Given the description of an element on the screen output the (x, y) to click on. 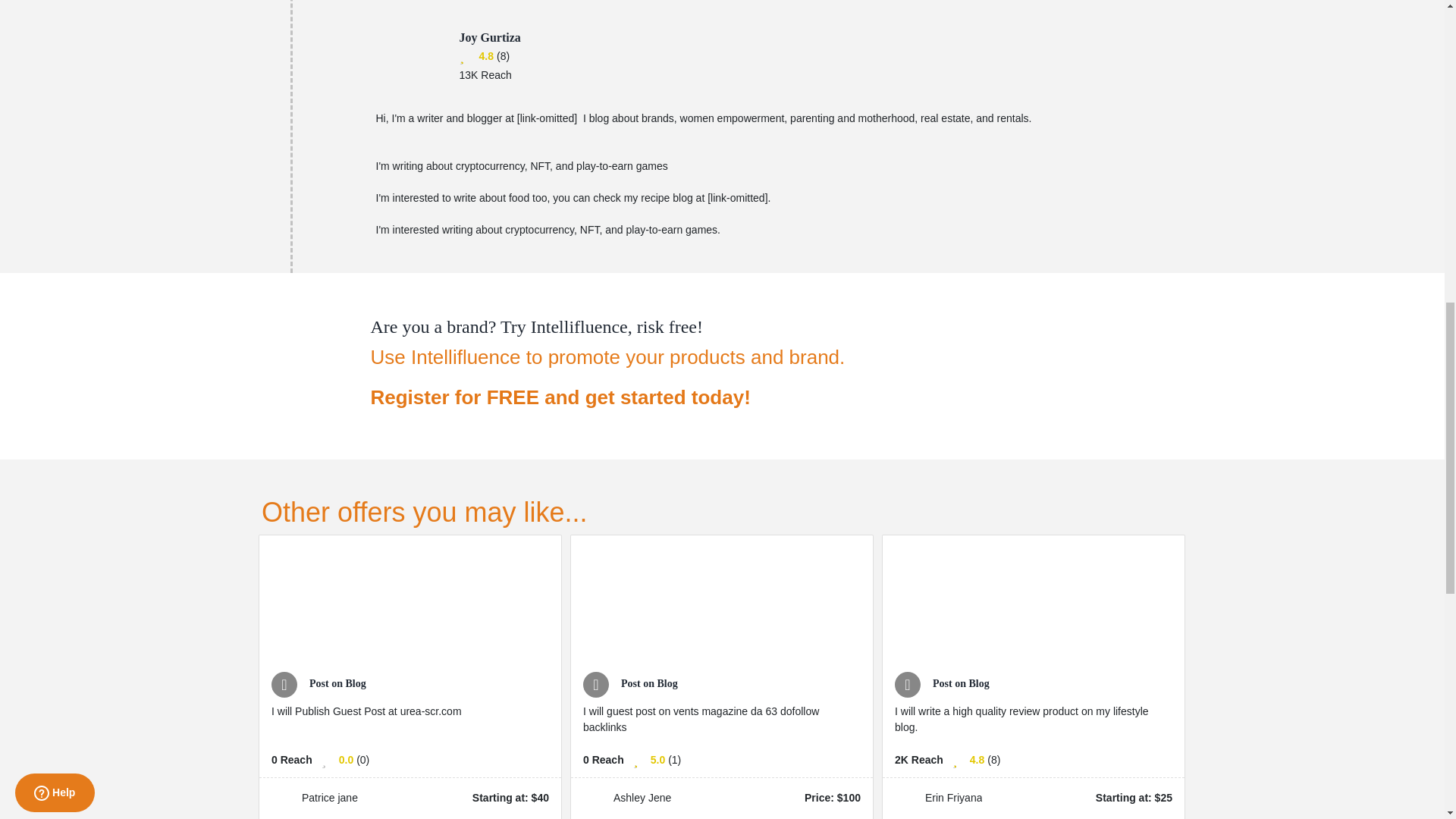
Star rating out of 5 (346, 760)
Register for FREE and get started today! (606, 397)
Star rating out of 5 (976, 760)
Number of reviews (362, 760)
Star rating out of 5 (657, 760)
Number of reviews (993, 760)
Number of reviews (502, 56)
Star rating out of 5 (486, 56)
Number of reviews (674, 760)
